Given the description of an element on the screen output the (x, y) to click on. 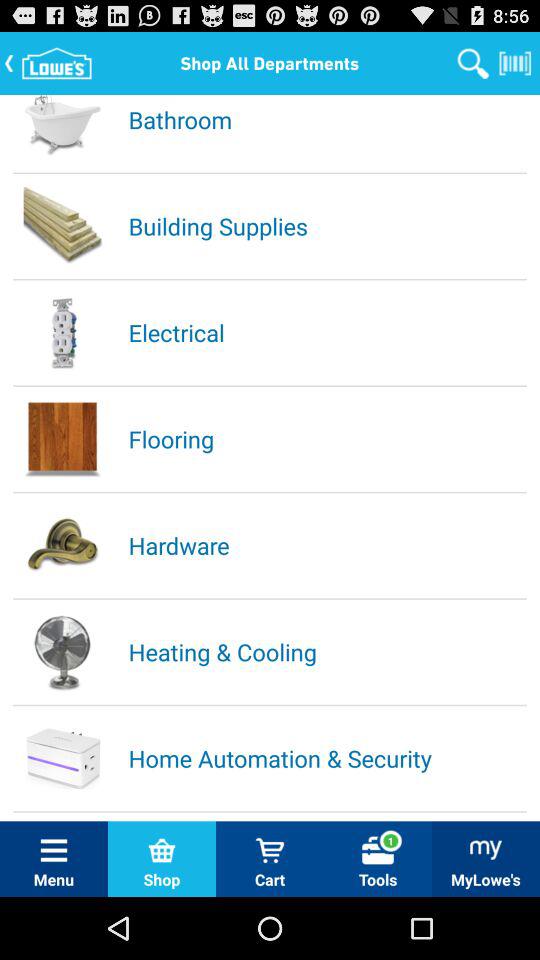
tap the icon below the hardware (326, 651)
